Given the description of an element on the screen output the (x, y) to click on. 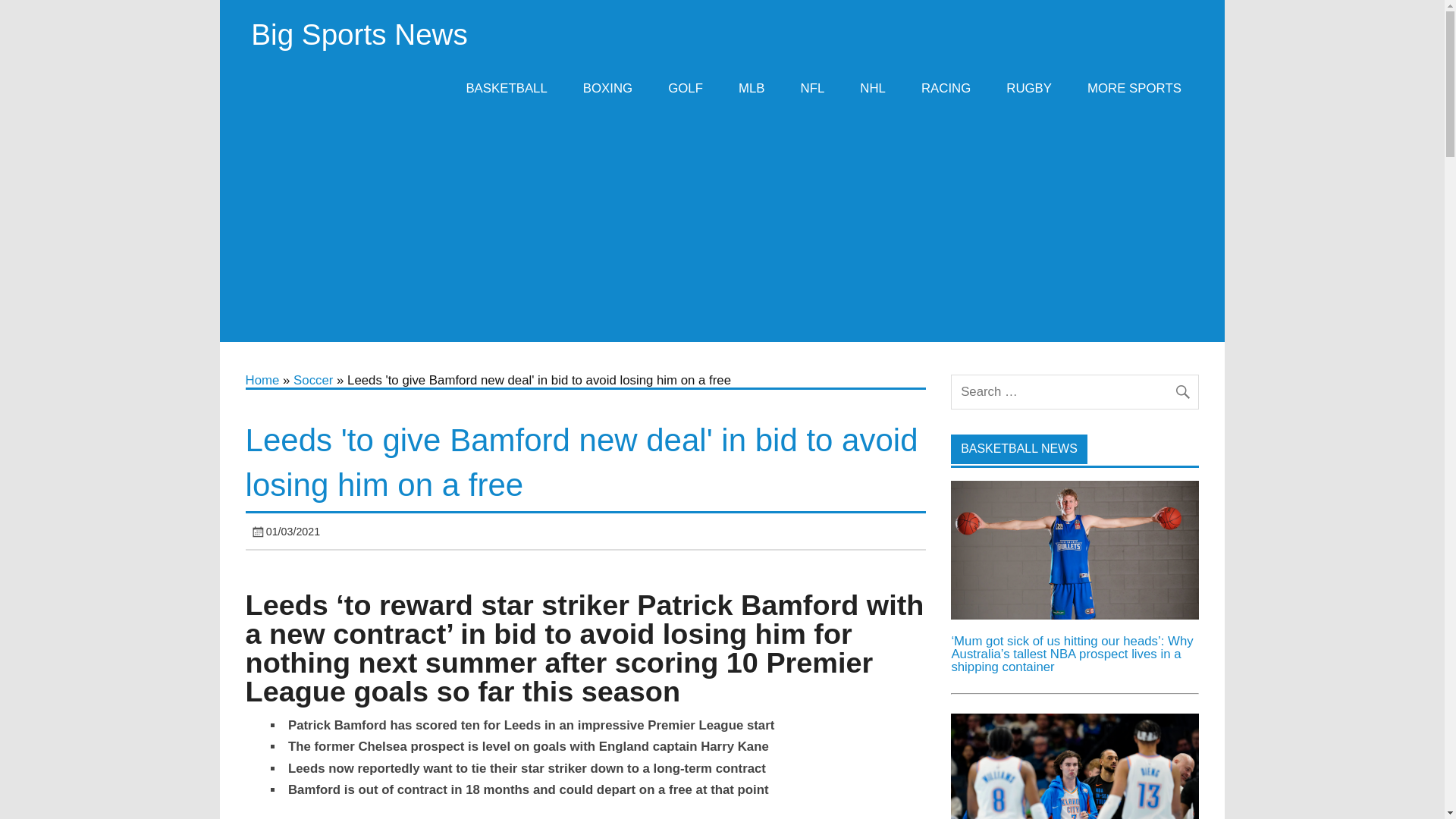
12:21 (293, 531)
MORE SPORTS (1134, 88)
RUGBY (1029, 88)
NFL (813, 88)
BASKETBALL (506, 88)
NHL (873, 88)
Home (262, 380)
RACING (945, 88)
GOLF (685, 88)
MLB (751, 88)
BOXING (606, 88)
Big Sports News (358, 34)
Soccer (313, 380)
